Given the description of an element on the screen output the (x, y) to click on. 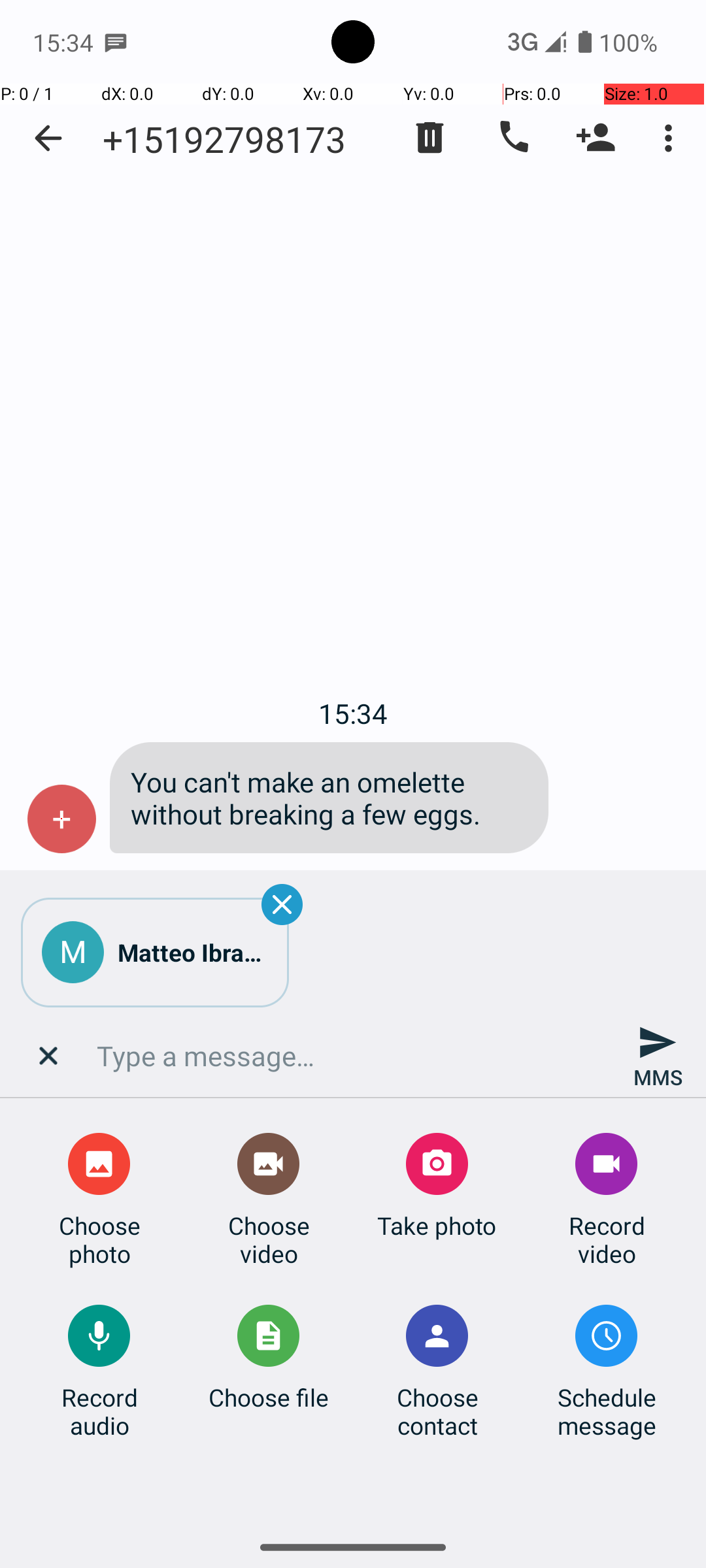
+15192798173 Element type: android.widget.TextView (223, 138)
MMS Element type: android.widget.Button (657, 1055)
You can't make an omelette without breaking a few eggs. Element type: android.widget.TextView (328, 797)
Choose photo Element type: android.widget.TextView (98, 1239)
Choose video Element type: android.widget.TextView (268, 1239)
Take photo Element type: android.widget.TextView (436, 1224)
Record video Element type: android.widget.TextView (606, 1239)
Record audio Element type: android.widget.TextView (98, 1410)
Choose file Element type: android.widget.TextView (268, 1396)
Choose contact Element type: android.widget.TextView (436, 1410)
Schedule message Element type: android.widget.TextView (606, 1410)
Matteo Ibrahim Element type: android.widget.TextView (192, 951)
